Given the description of an element on the screen output the (x, y) to click on. 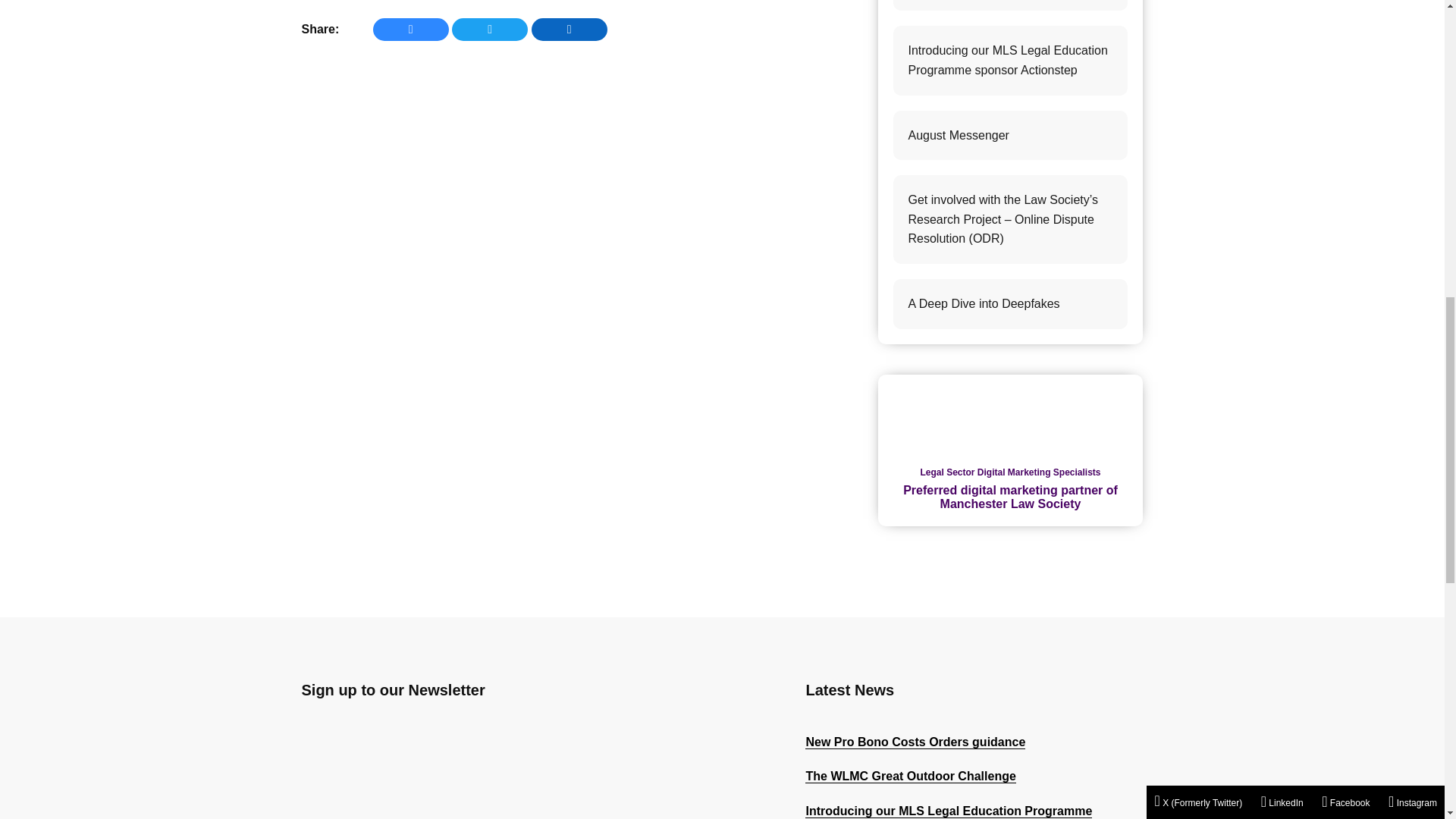
The WLMC Great Outdoor Challenge (909, 775)
A Deep Dive into Deepfakes (1010, 304)
August Messenger (1010, 135)
The WLMC Great Outdoor Challenge (1010, 5)
New Pro Bono Costs Orders guidance (915, 742)
